Given the description of an element on the screen output the (x, y) to click on. 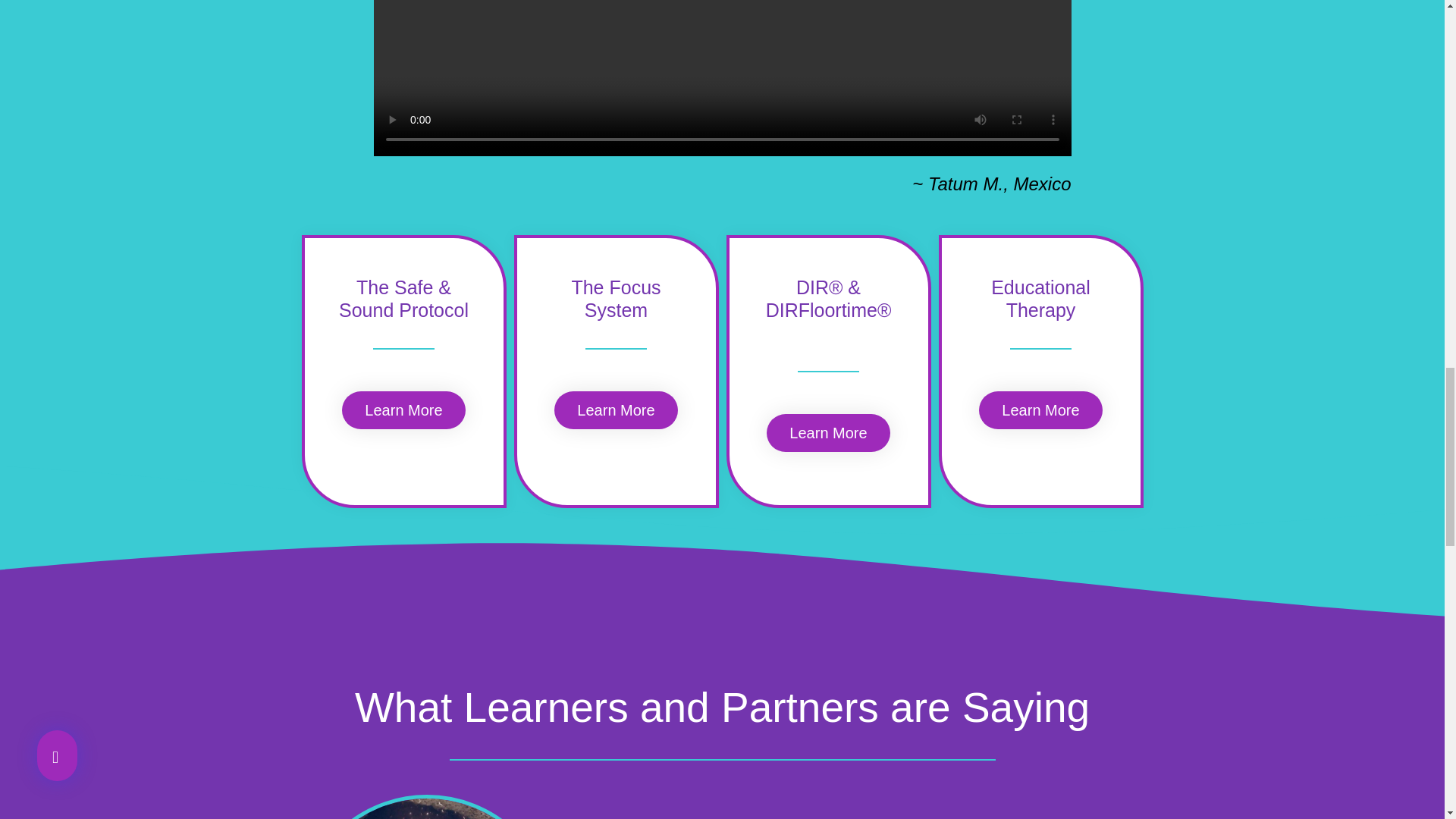
Learn More (403, 410)
Learn More (1040, 410)
Learn More (615, 410)
Learn More (828, 433)
